Given the description of an element on the screen output the (x, y) to click on. 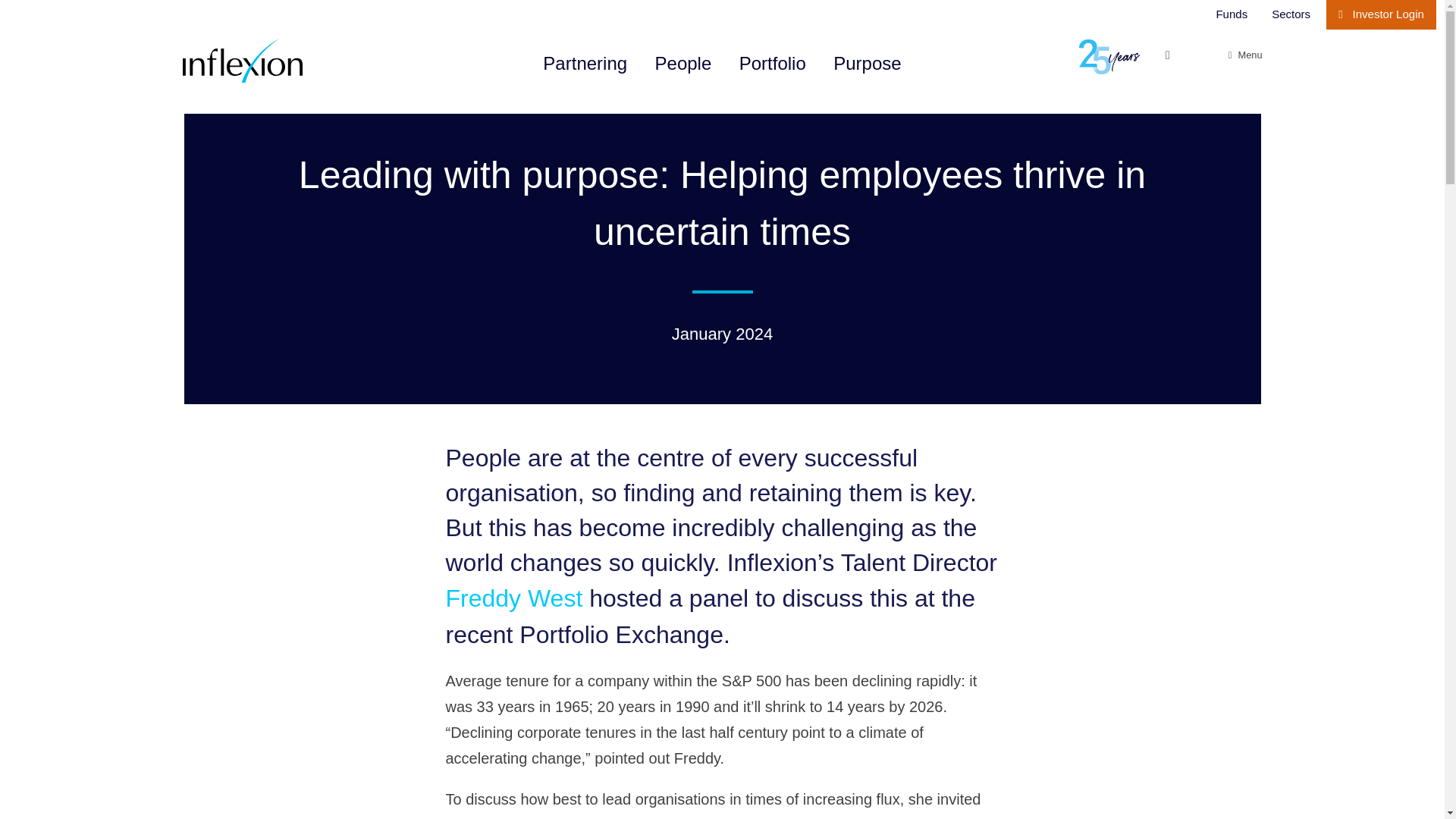
Portfolio (772, 63)
Purpose (866, 63)
Sectors (1290, 14)
Medik8 (564, 817)
Freddy West (514, 597)
Funds (1231, 14)
Inflexion (289, 60)
Investor Login (1380, 14)
Partnering (585, 63)
People (683, 63)
